Given the description of an element on the screen output the (x, y) to click on. 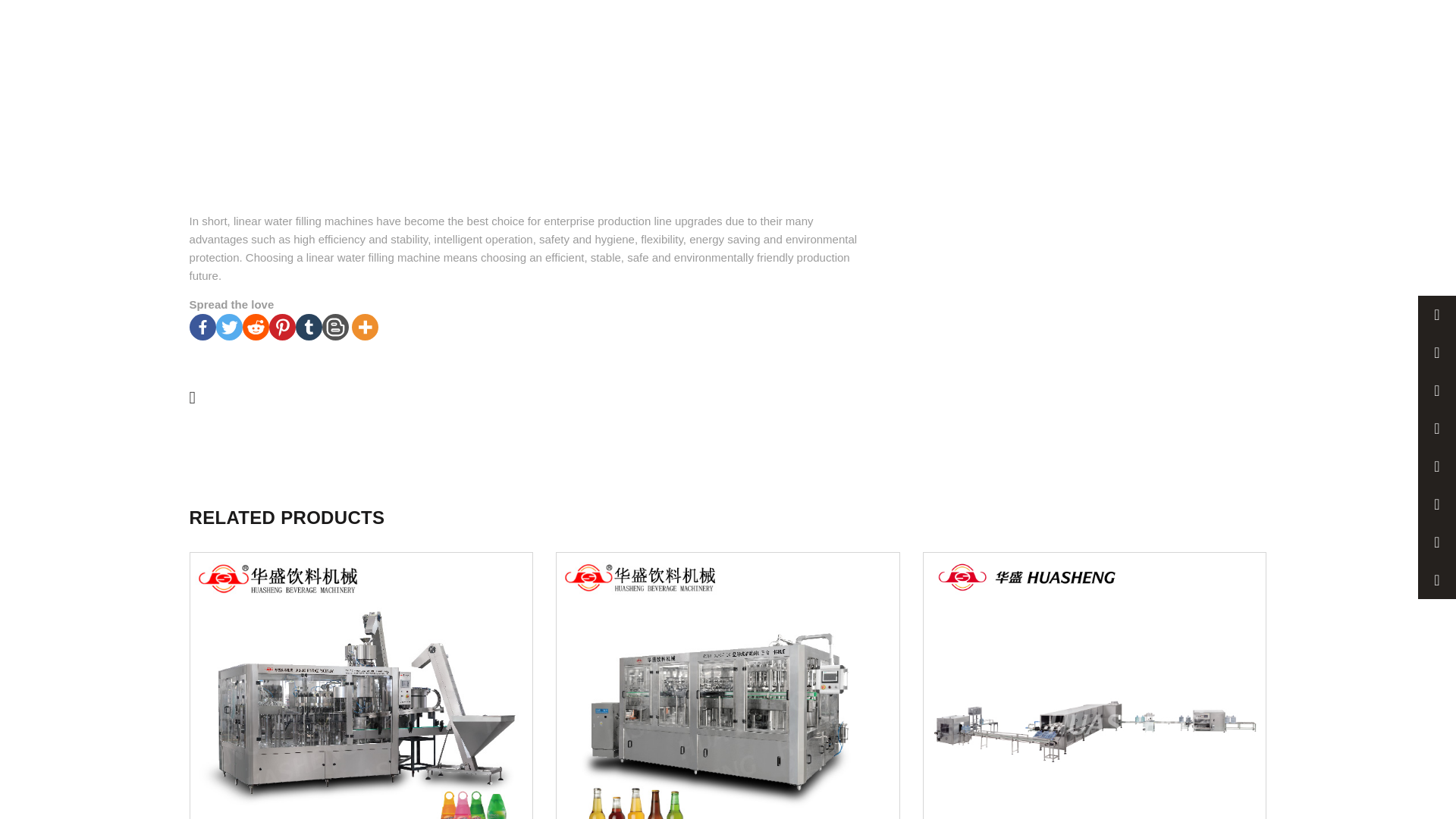
Twitter (229, 326)
Pinterest (282, 326)
More (365, 326)
Blogger Post (335, 326)
BCGF Series Beer Filling-Capping Machine (727, 685)
Tumblr (308, 326)
Juice Drink Filling Production Line (361, 685)
Reddit (256, 326)
Facebook (202, 326)
Linear Water Filling Machine-huuangsheng (492, 100)
